Given the description of an element on the screen output the (x, y) to click on. 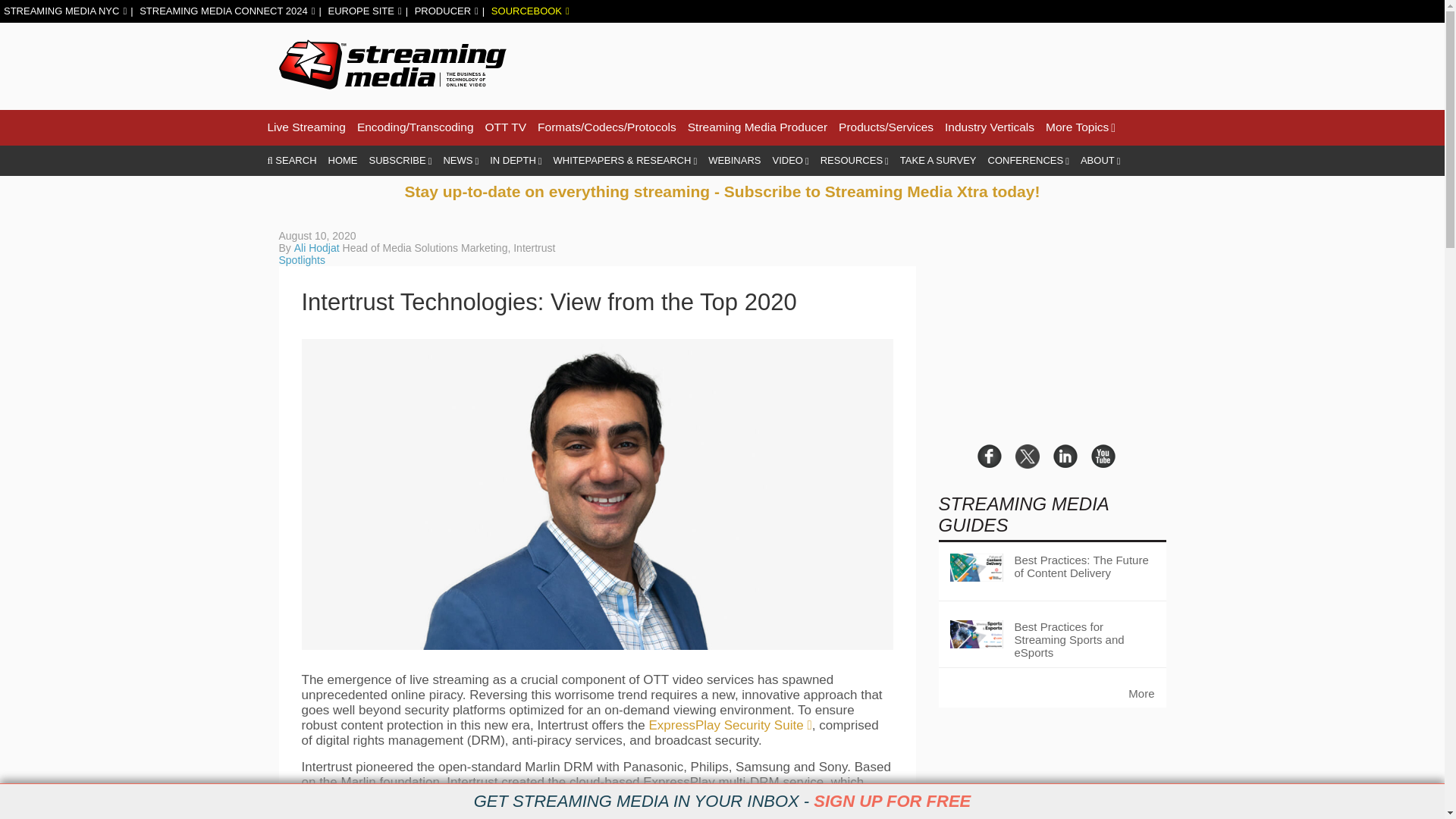
Streaming Media Producer (757, 127)
PRODUCER (446, 10)
STREAMING MEDIA NYC (65, 10)
Streaming Media Producer (757, 127)
SOURCEBOOK (530, 10)
OTT TV (505, 127)
SUBSCRIBE (400, 160)
Live Streaming (305, 127)
Streaming Media Connect 2024 (226, 10)
STREAMING MEDIA CONNECT 2024 (226, 10)
